Given the description of an element on the screen output the (x, y) to click on. 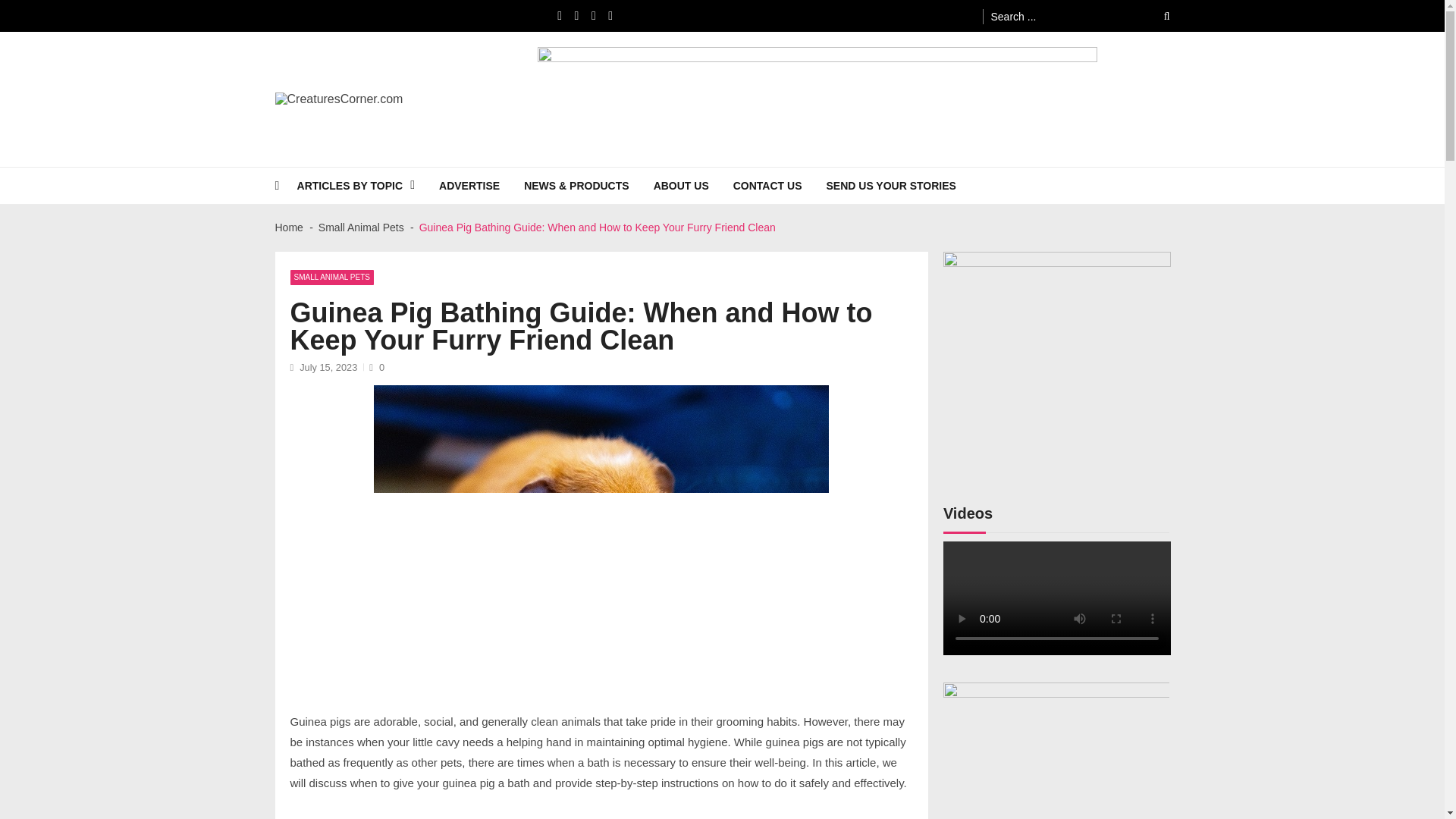
Search (1156, 15)
Search (1156, 15)
Search (1156, 15)
